Given the description of an element on the screen output the (x, y) to click on. 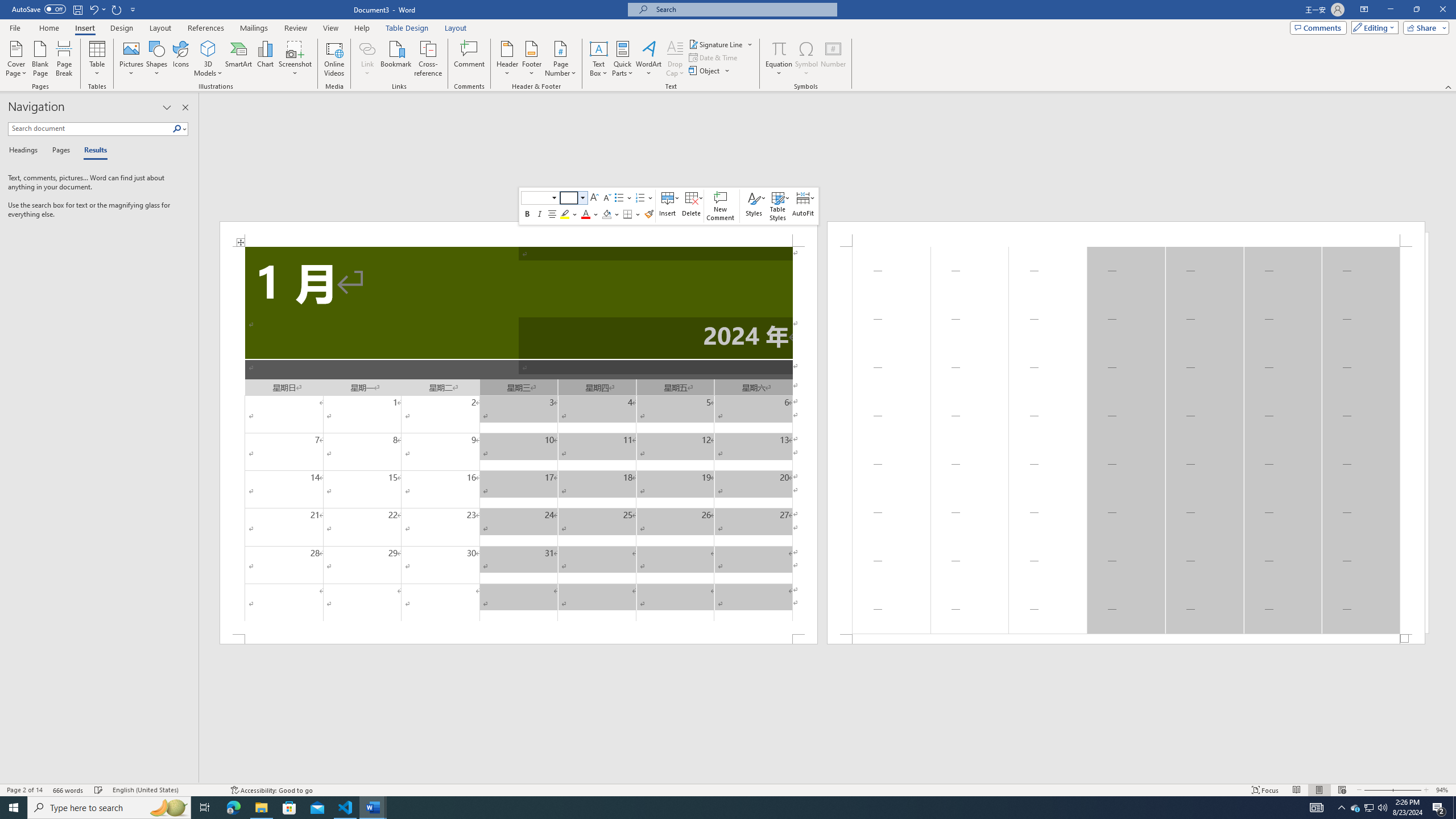
3D Models (1368, 807)
Link (208, 58)
Spelling and Grammar Check No Errors (367, 58)
AutomationID: 4105 (98, 790)
Chart... (1316, 807)
Class: NetUIComboboxAnchor (265, 58)
